Given the description of an element on the screen output the (x, y) to click on. 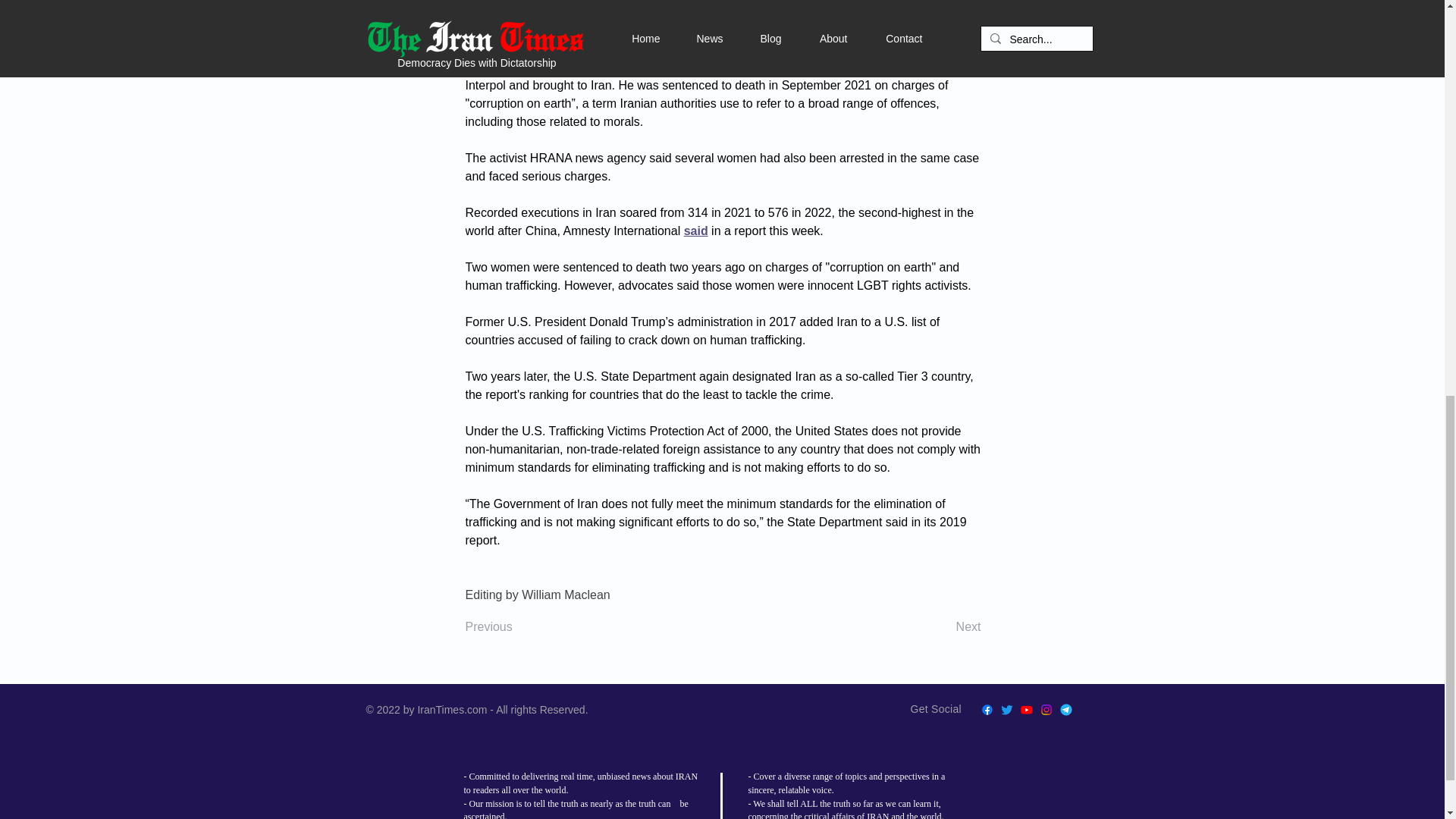
said (695, 230)
Previous (515, 626)
Next (943, 626)
